Given the description of an element on the screen output the (x, y) to click on. 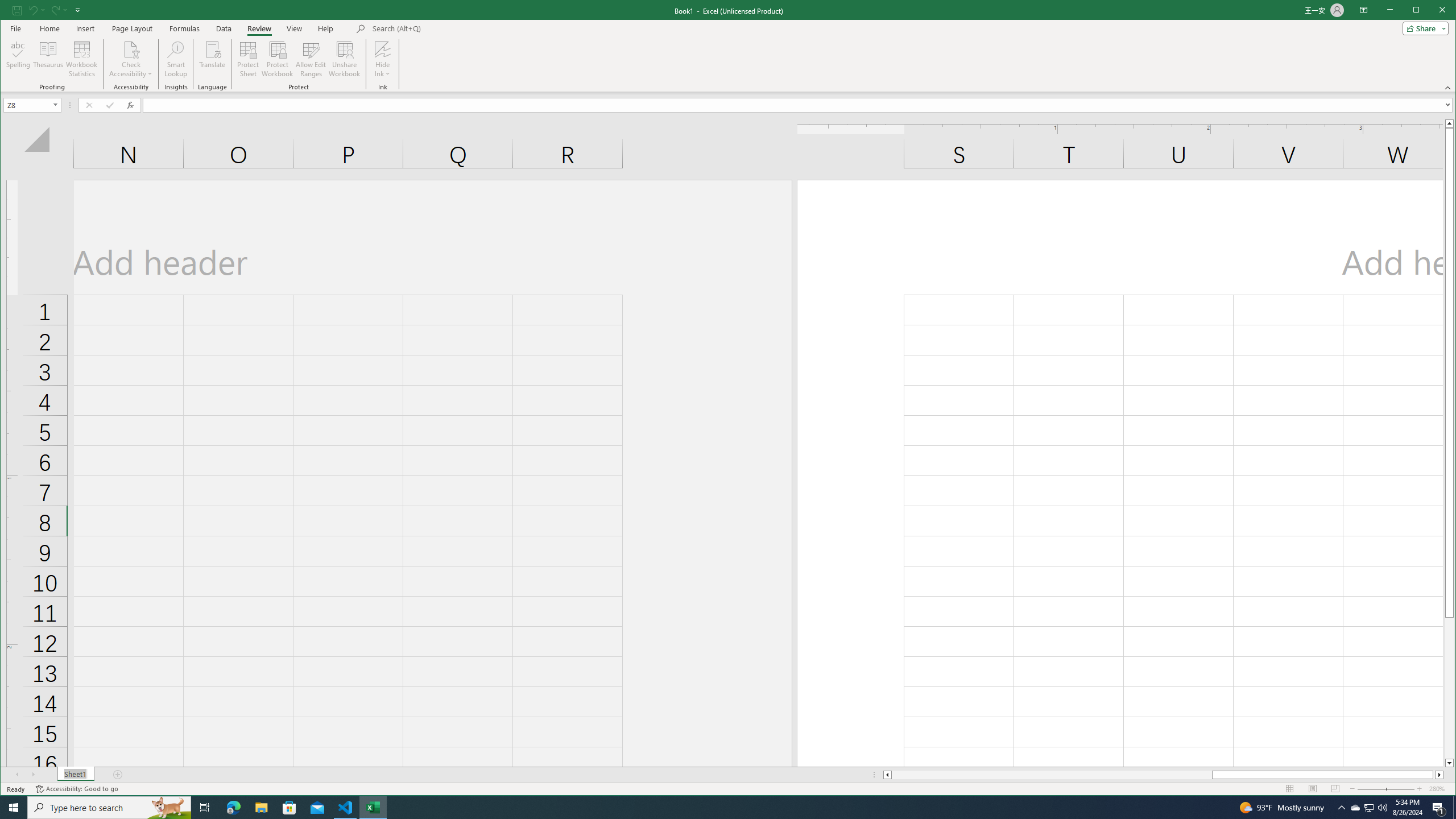
Smart Lookup (176, 59)
File Explorer (261, 807)
Unshare Workbook (344, 59)
Q2790: 100% (1382, 807)
